Given the description of an element on the screen output the (x, y) to click on. 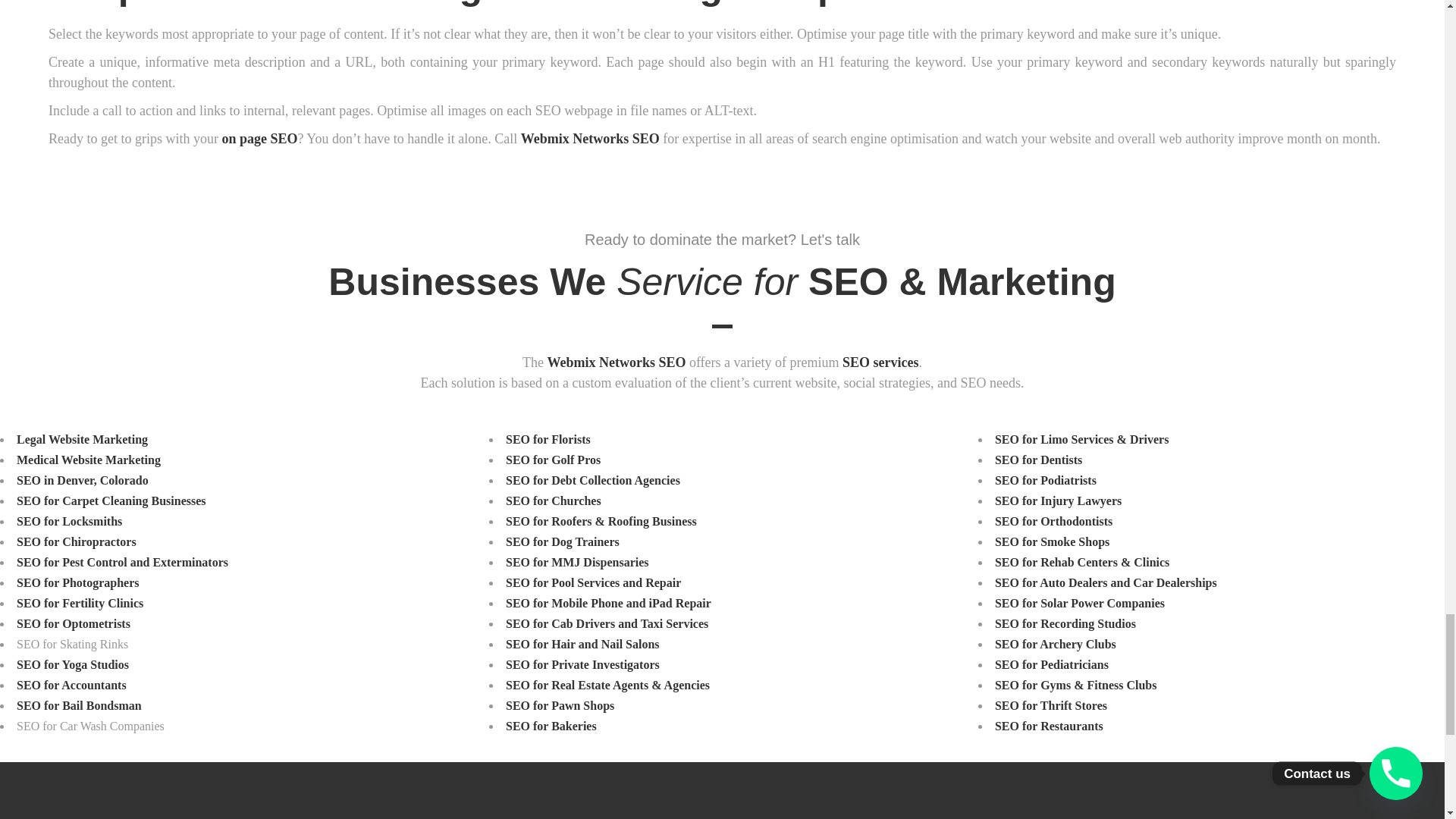
Medical Website Marketing (88, 459)
Legal Website Marketing (82, 439)
SEO for Carpet Cleaners (111, 500)
Webmix Networks SEO (590, 138)
SEO services (880, 362)
Webmix Networks SEO (616, 362)
